Given the description of an element on the screen output the (x, y) to click on. 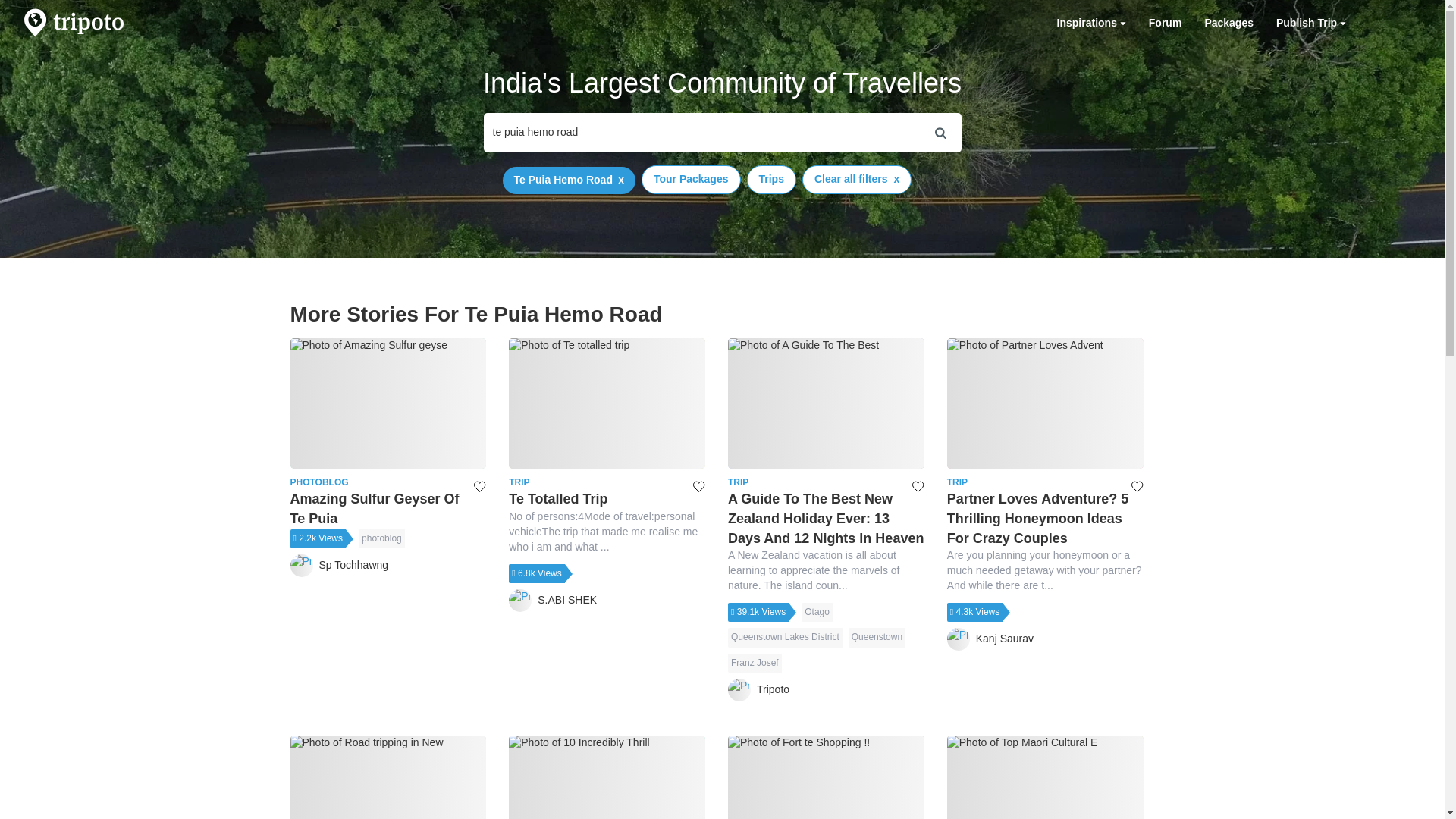
Tripoto: India's Largest Community of Travellers (73, 22)
Tripoto (758, 689)
Sp Tochhawng (338, 565)
Publish Trip  (1310, 22)
Kanj Saurav (990, 639)
Franz Josef (754, 662)
Inspirations (1091, 22)
Queenstown (876, 637)
Packages (1228, 22)
Publish Trip (1310, 22)
Packages (1228, 22)
Otago (817, 611)
